Given the description of an element on the screen output the (x, y) to click on. 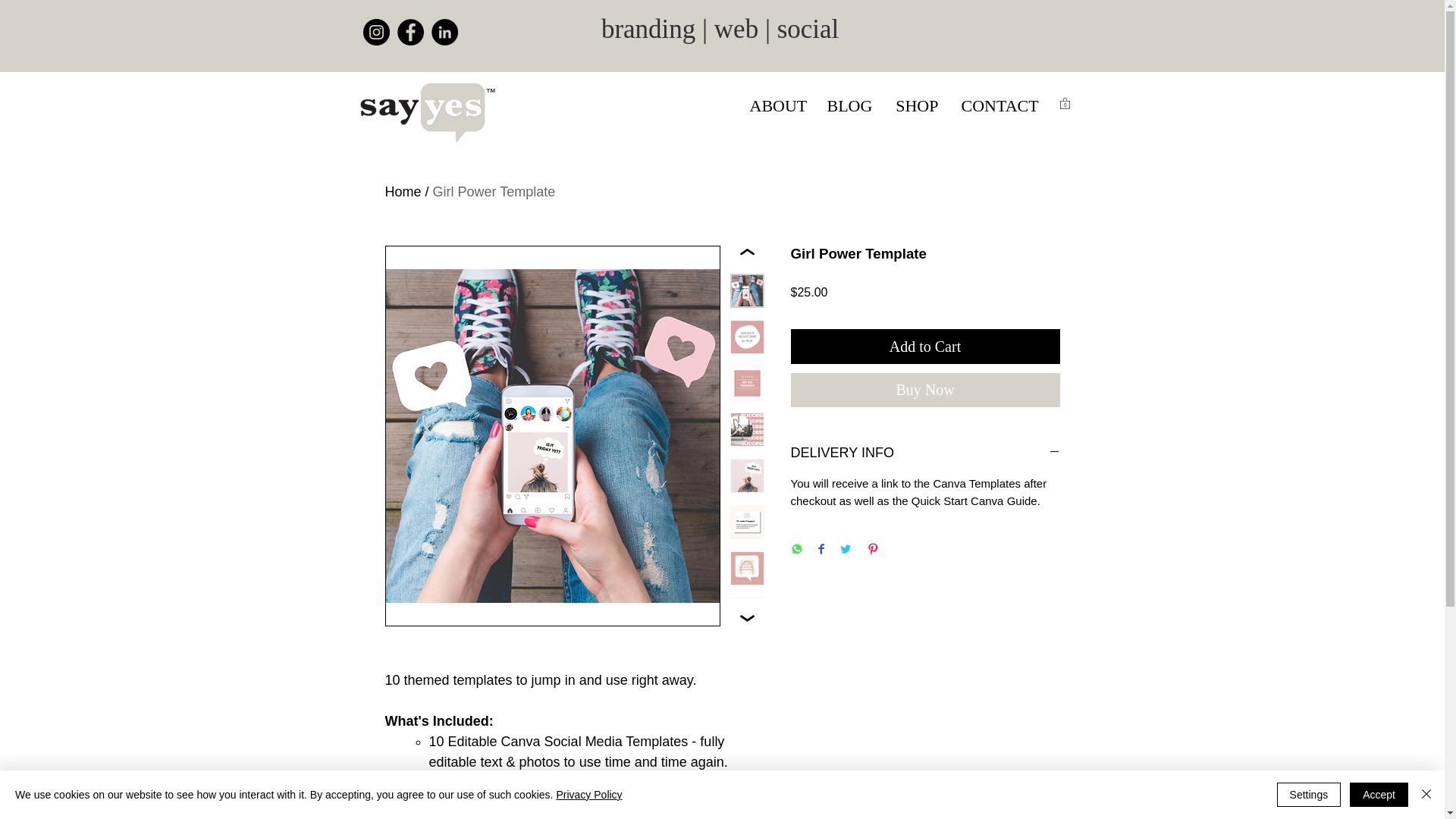
CONTACT (997, 105)
Settings (1308, 794)
BLOG (848, 105)
Privacy Policy (588, 794)
Girl Power Template (494, 191)
Buy Now (924, 390)
Accept (1378, 794)
Add to Cart (924, 346)
SHOP (916, 105)
DELIVERY INFO (924, 452)
